Given the description of an element on the screen output the (x, y) to click on. 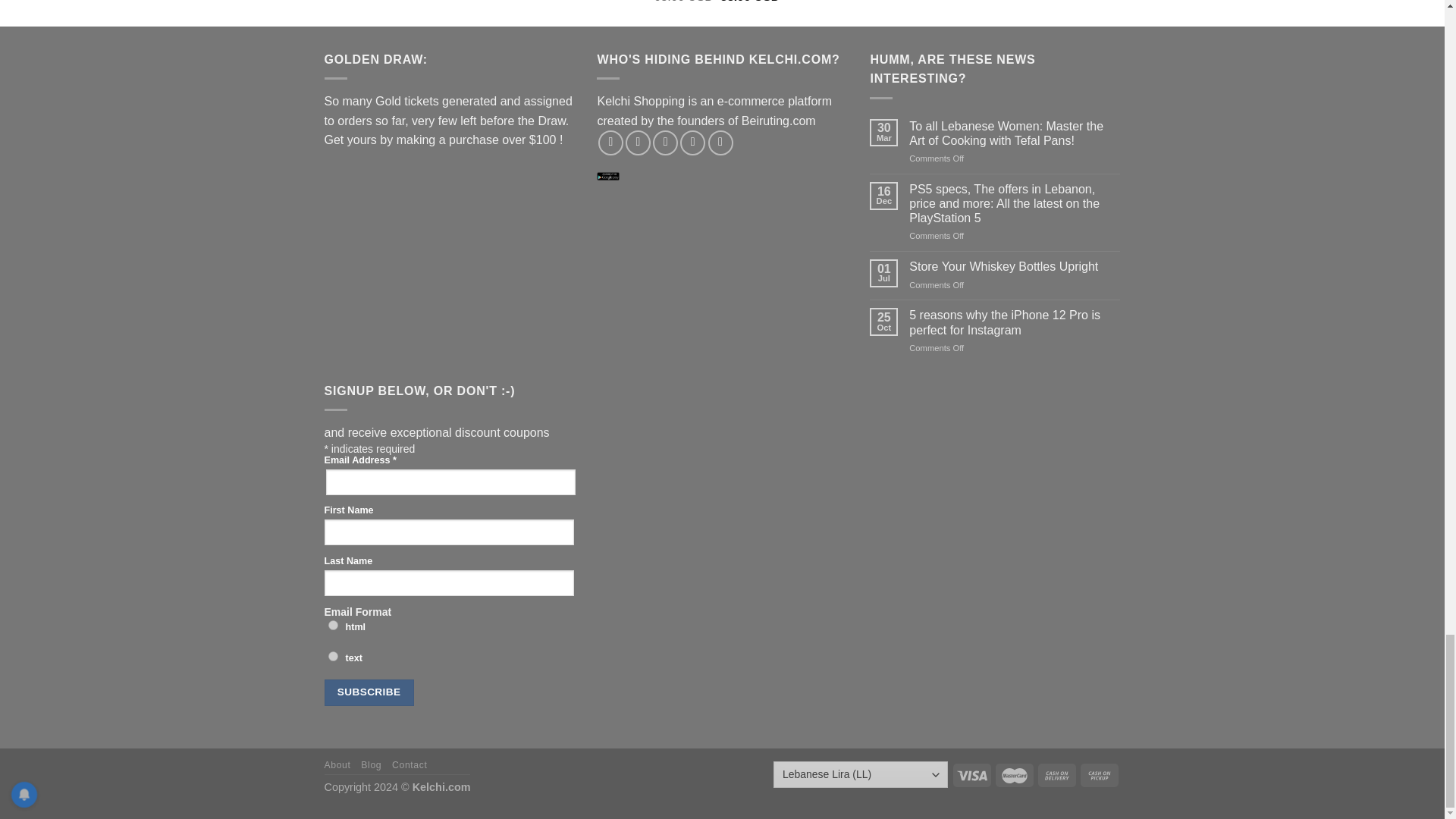
Send us an email (691, 142)
Call us (720, 142)
text (332, 655)
Follow on Twitter (665, 142)
html (332, 624)
Follow on Instagram (638, 142)
Subscribe (368, 692)
Follow on Facebook (610, 142)
